Given the description of an element on the screen output the (x, y) to click on. 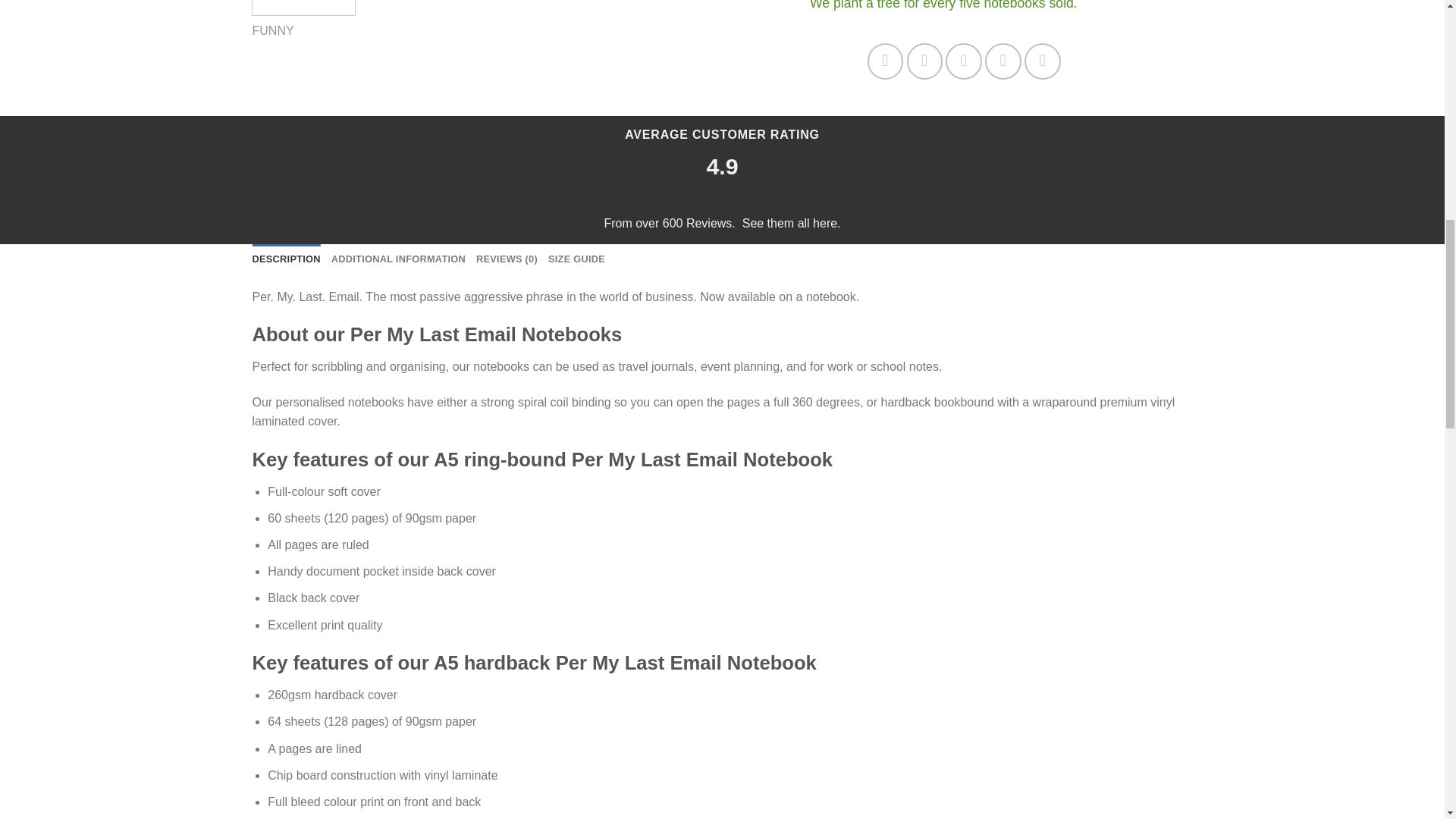
FUNNY (272, 30)
DESCRIPTION (285, 259)
See them all here. (791, 223)
ADDITIONAL INFORMATION (398, 259)
